Given the description of an element on the screen output the (x, y) to click on. 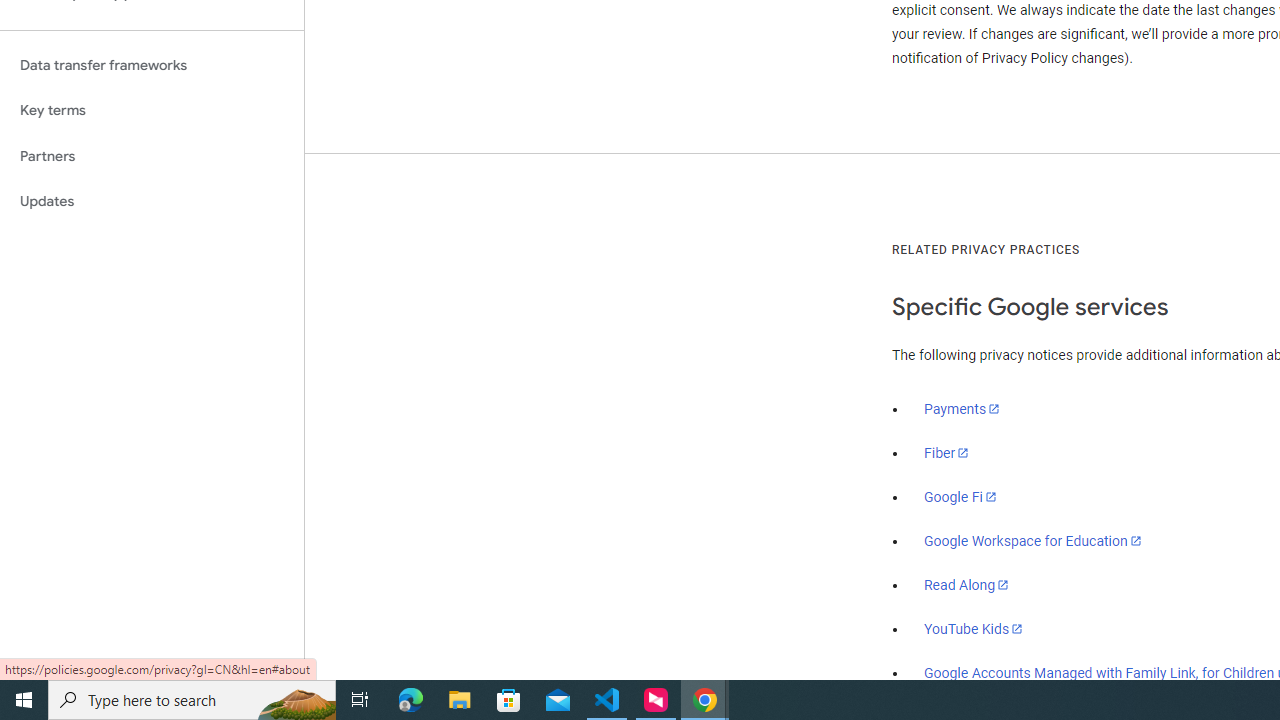
Read Along (966, 585)
Google Workspace for Education (1032, 541)
YouTube Kids (974, 628)
Fiber (947, 453)
Partners (152, 156)
Payments (962, 409)
Google Fi (960, 497)
Key terms (152, 110)
Data transfer frameworks (152, 65)
